Given the description of an element on the screen output the (x, y) to click on. 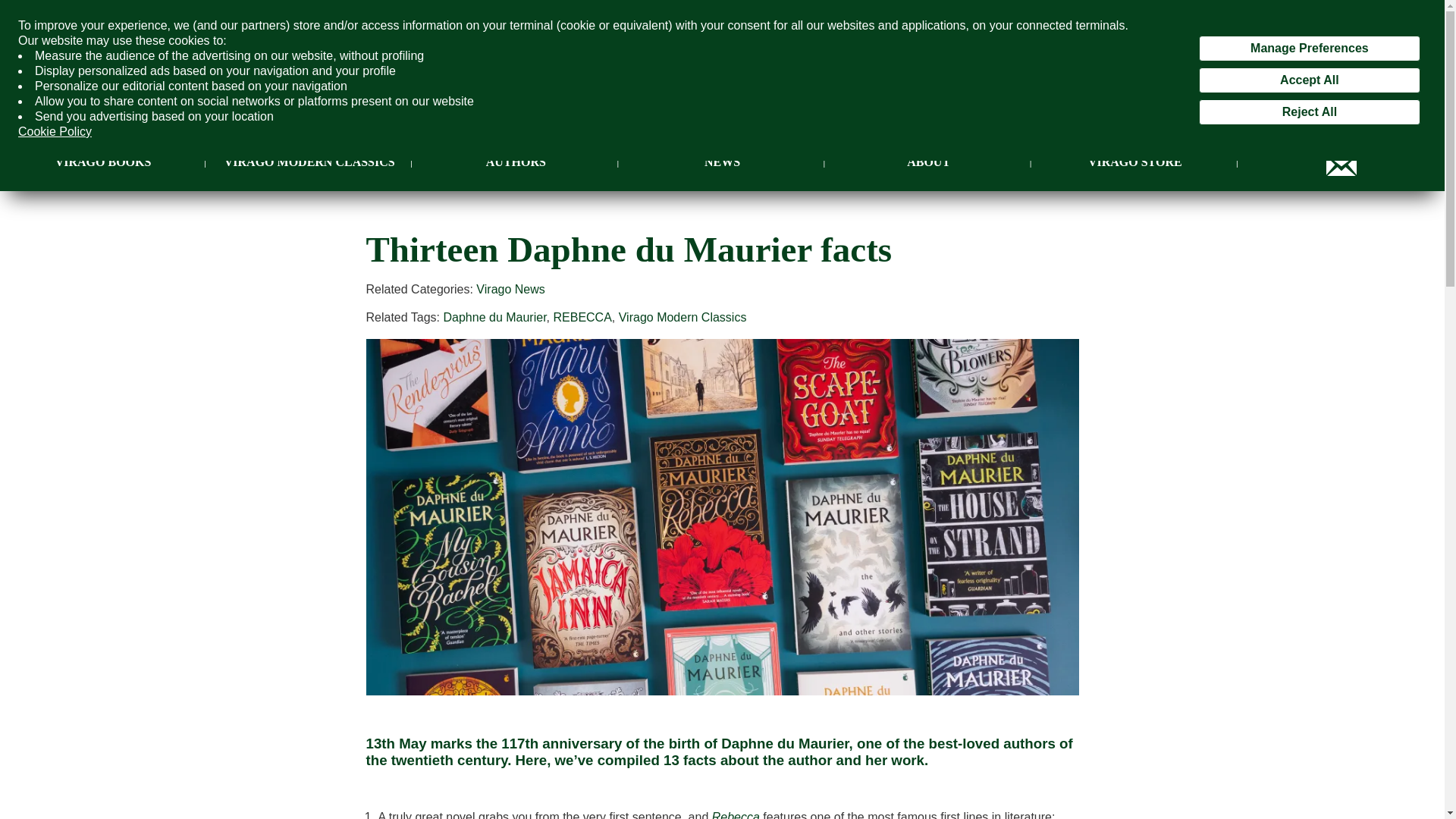
AUTHORS (515, 161)
Rebecca (735, 814)
NEWSLETTER (1340, 161)
VIRAGO BOOKS (103, 161)
VIRAGO STORE (1134, 161)
Virago News (510, 288)
ABOUT (928, 161)
NEWS (721, 161)
Daphne du Maurier (494, 317)
Virago Modern Classics (682, 317)
VIRAGO MODERN CLASSICS (309, 161)
REBECCA (582, 317)
